Given the description of an element on the screen output the (x, y) to click on. 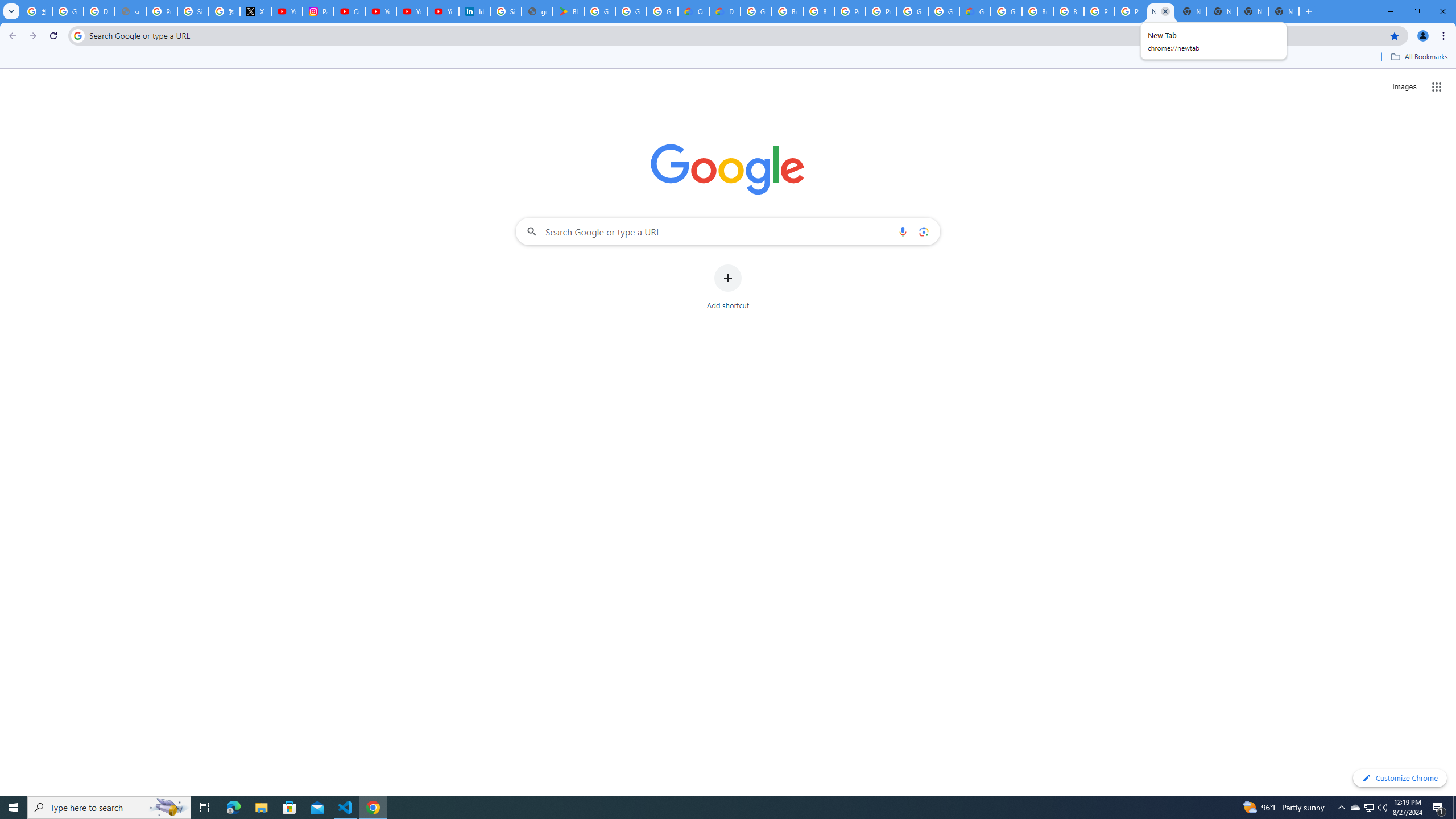
Google Cloud Platform (756, 11)
YouTube Content Monetization Policies - How YouTube Works (286, 11)
Google Cloud Platform (943, 11)
